Given the description of an element on the screen output the (x, y) to click on. 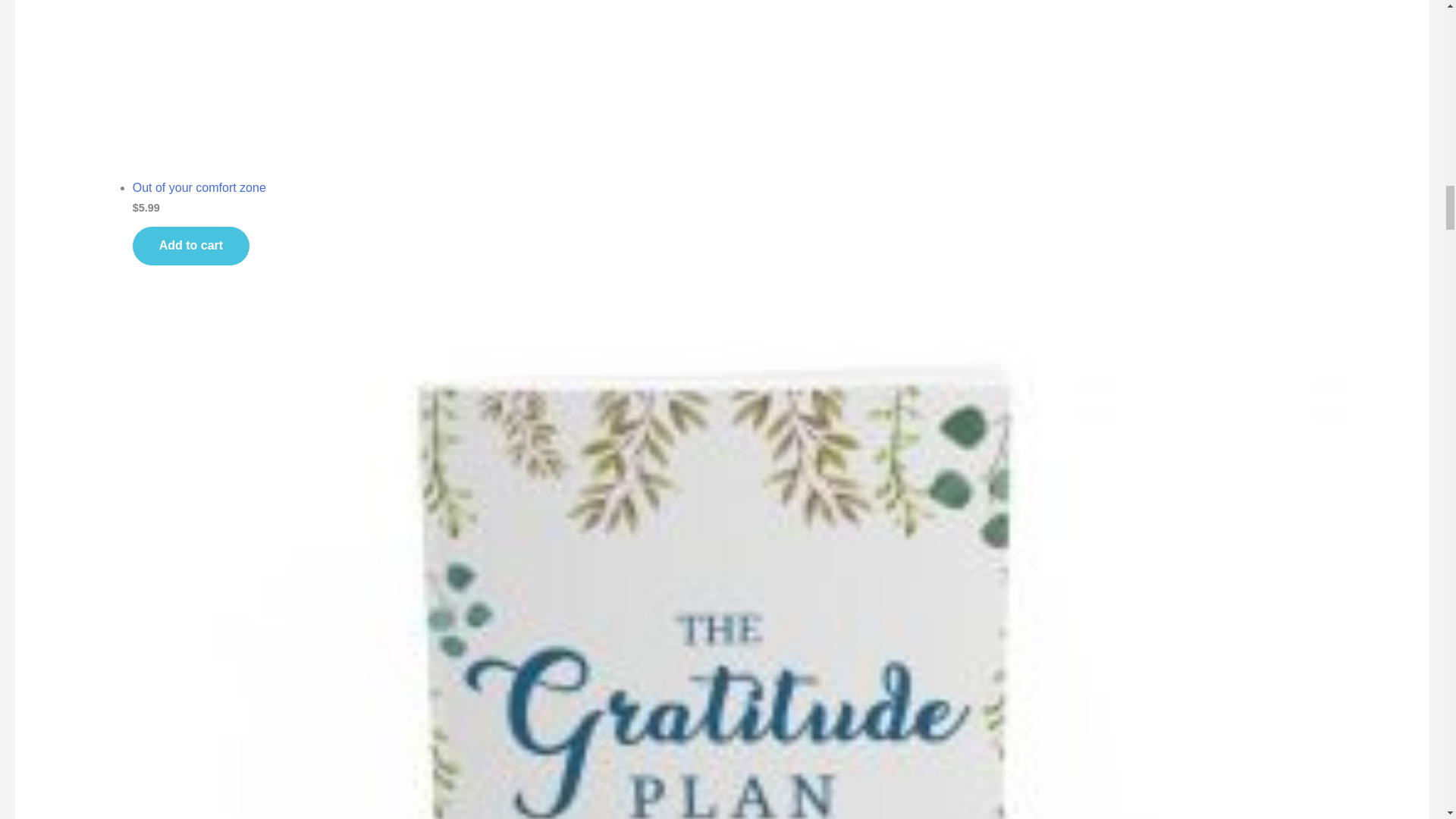
Add to cart (190, 245)
